Given the description of an element on the screen output the (x, y) to click on. 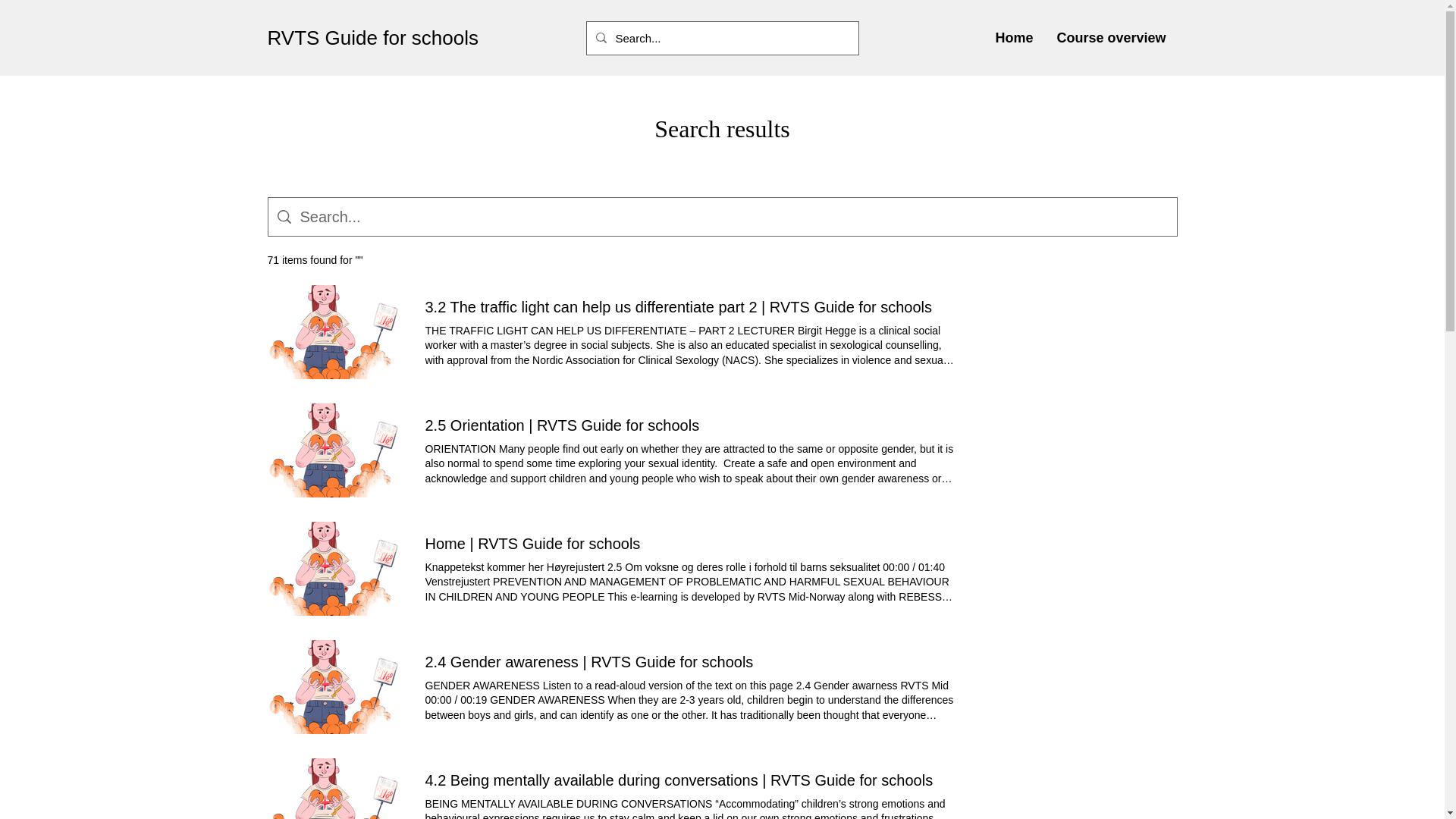
RVTS Guide for schools (371, 36)
Home (1013, 38)
Course overview (1111, 38)
